Given the description of an element on the screen output the (x, y) to click on. 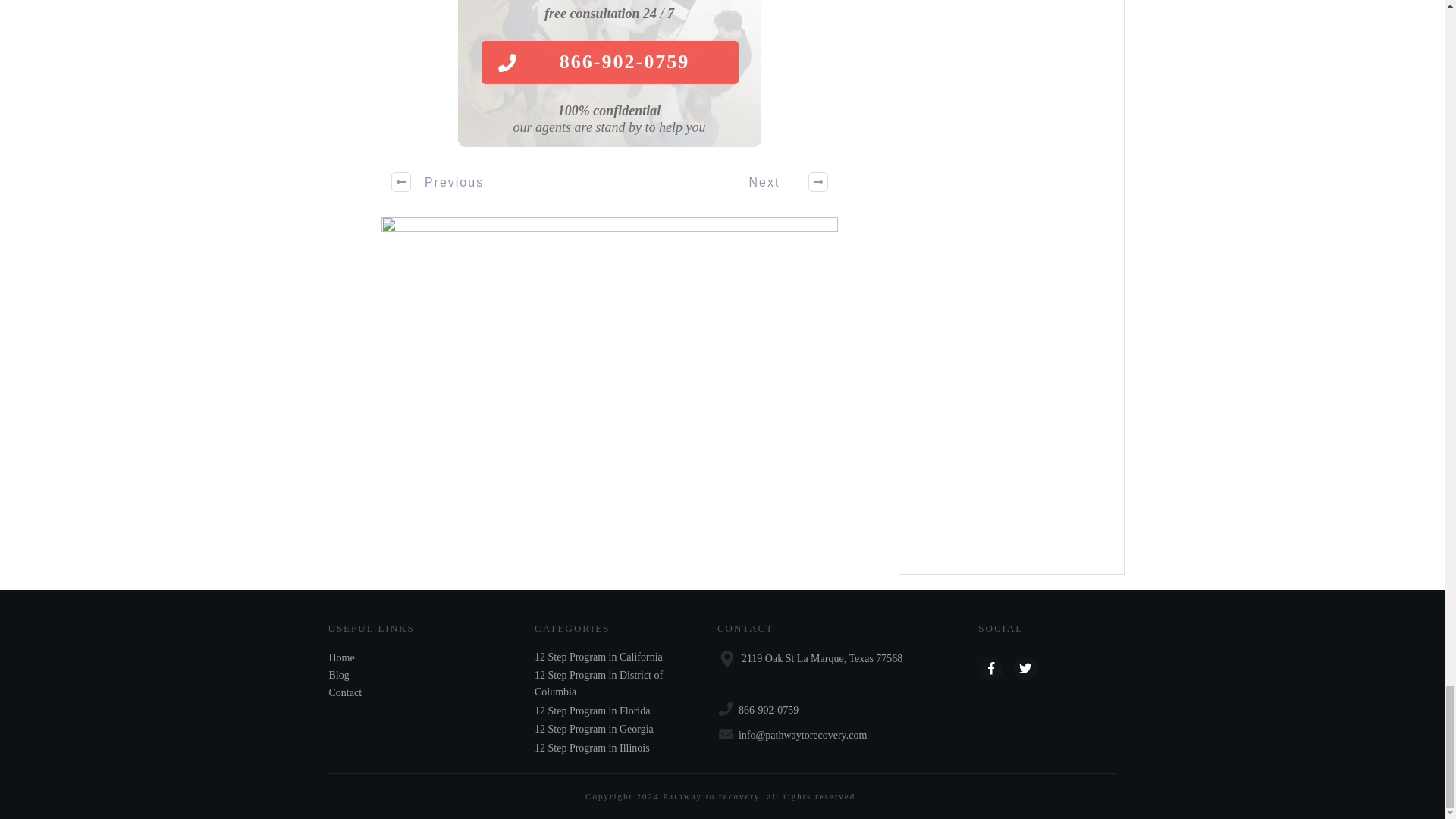
866-902-0759 (609, 62)
Previous (438, 181)
Next (780, 181)
